Given the description of an element on the screen output the (x, y) to click on. 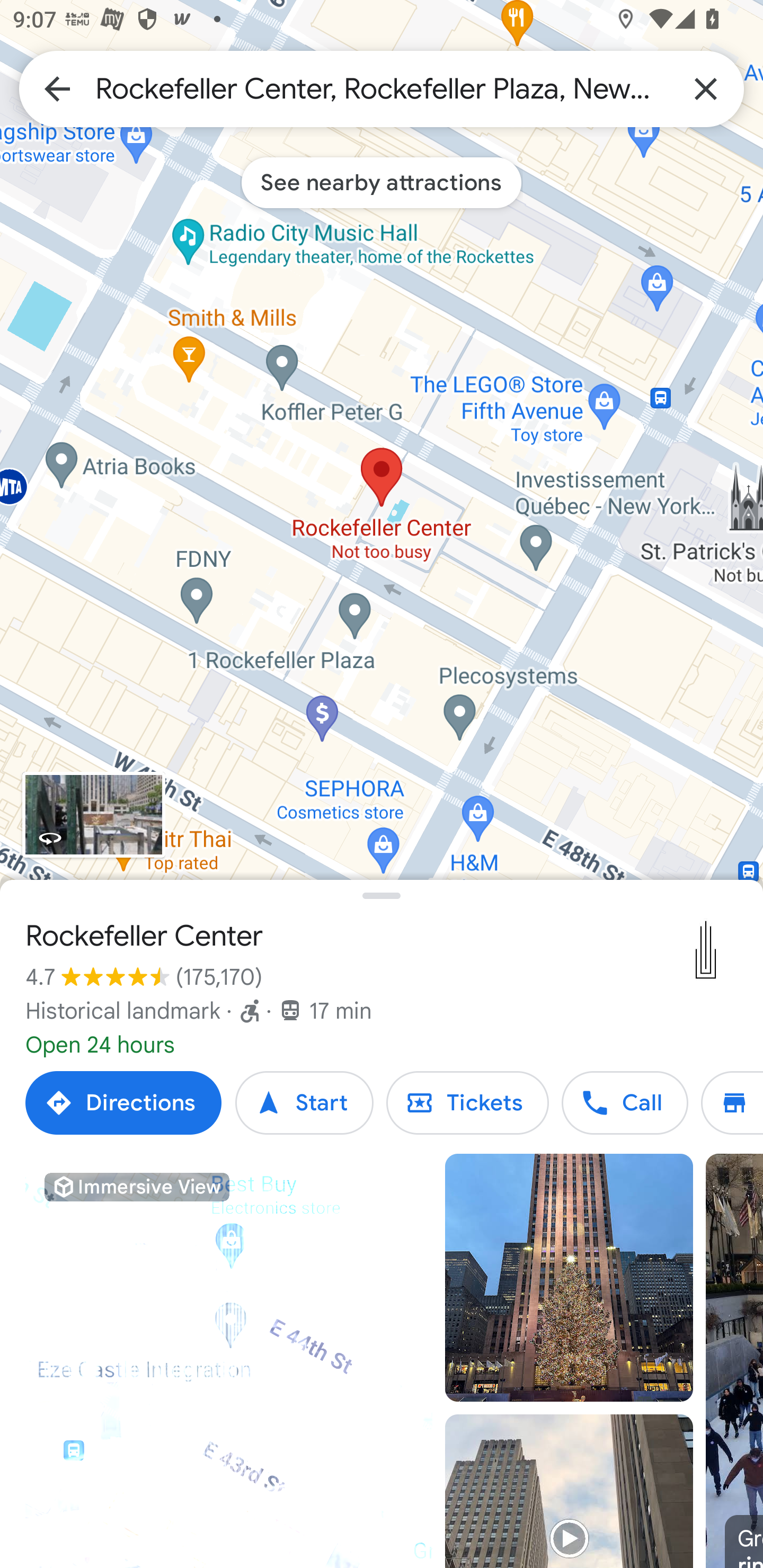
Back (57, 88)
Clear (705, 88)
See nearby attractions (381, 182)
View Street view imagery for Rockefeller Center (93, 814)
Start Start Start (304, 1102)
Tickets (467, 1102)
Directory Directory Directory (732, 1102)
Video Immersive View (228, 1361)
Photo (568, 1277)
Video (568, 1491)
